Given the description of an element on the screen output the (x, y) to click on. 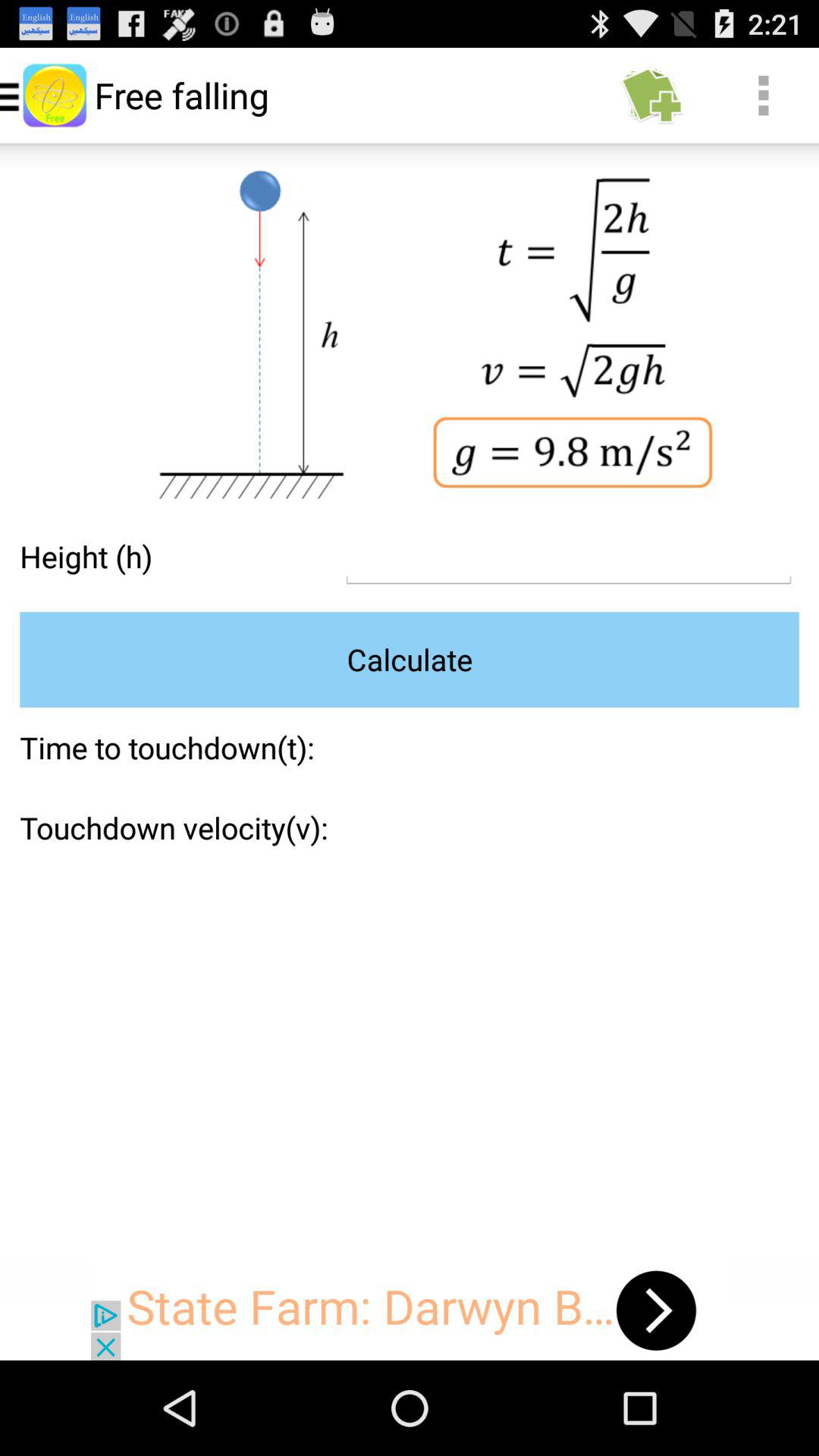
add banner (409, 1310)
